Given the description of an element on the screen output the (x, y) to click on. 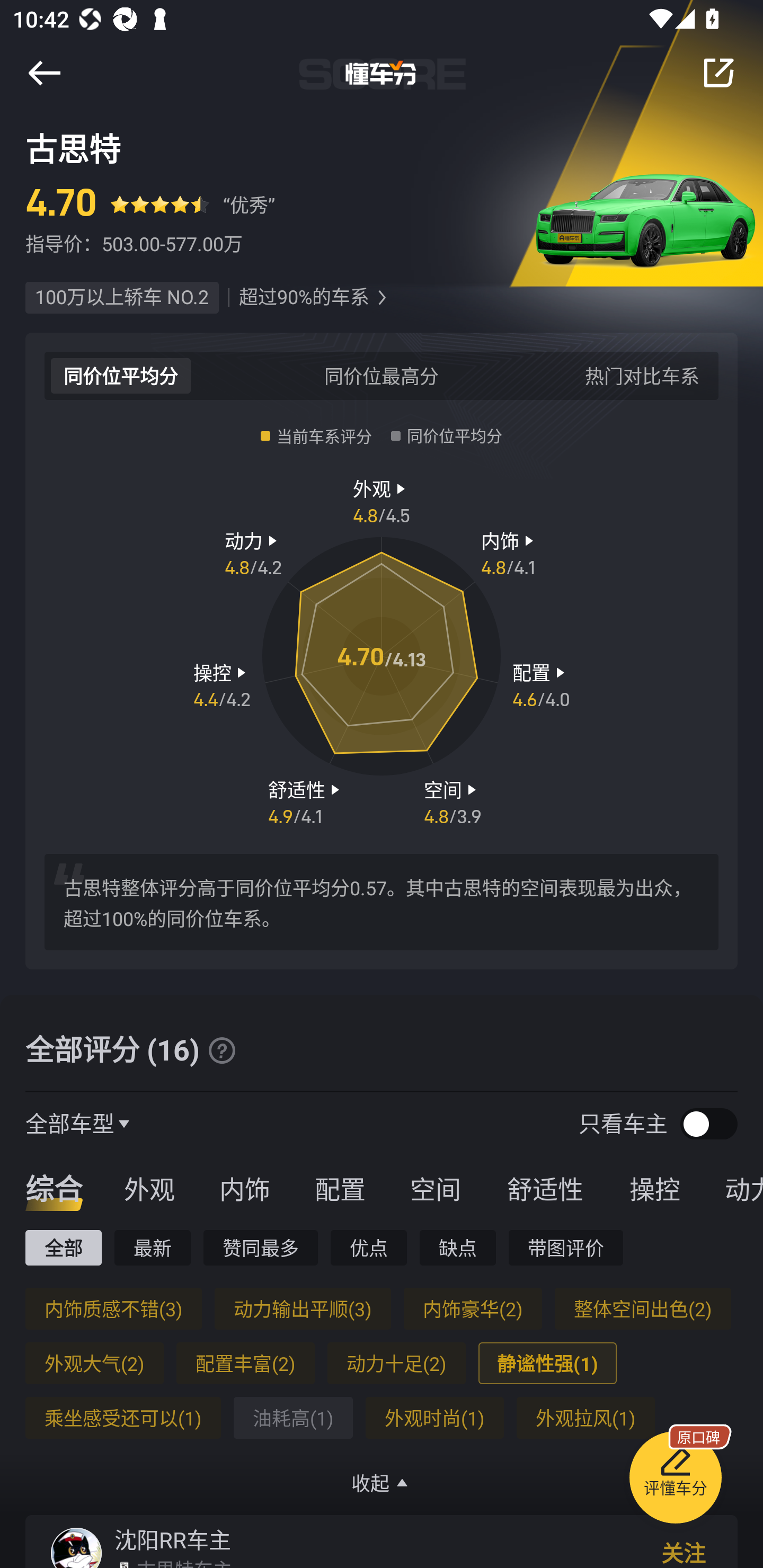
 (44, 72)
 (718, 72)
超过90%的车系 (303, 297)
 (381, 297)
同价位平均分 (120, 375)
同价位最高分 (381, 375)
热门对比车系 (641, 375)
外观  4.8 / 4.5 (381, 500)
动力  4.8 / 4.2 (252, 552)
内饰  4.8 / 4.1 (509, 552)
操控  4.4 / 4.2 (221, 685)
配置  4.6 / 4.0 (540, 685)
舒适性  4.9 / 4.1 (305, 801)
空间  4.8 / 3.9 (452, 801)
 (222, 1050)
全部车型 (69, 1123)
外观 (148, 1188)
内饰 (244, 1188)
配置 (339, 1188)
空间 (434, 1188)
舒适性 (544, 1188)
操控 (654, 1188)
全部 (63, 1247)
最新 (152, 1247)
赞同最多 (260, 1247)
优点 (368, 1247)
缺点 (457, 1247)
带图评价 (565, 1247)
内饰质感不错(3) (113, 1308)
动力输出平顺(3) (302, 1308)
内饰豪华(2) (472, 1308)
整体空间出色(2) (642, 1308)
外观大气(2) (94, 1363)
配置丰富(2) (245, 1363)
动力十足(2) (396, 1363)
静谧性强(1) (547, 1363)
乘坐感受还可以(1) (123, 1418)
油耗高(1) (292, 1418)
外观时尚(1) (434, 1418)
外观拉风(1) (585, 1418)
 评懂车分 原口碑 (675, 1480)
收起  (381, 1482)
沈阳RR车主 (172, 1539)
关注 (683, 1550)
